Given the description of an element on the screen output the (x, y) to click on. 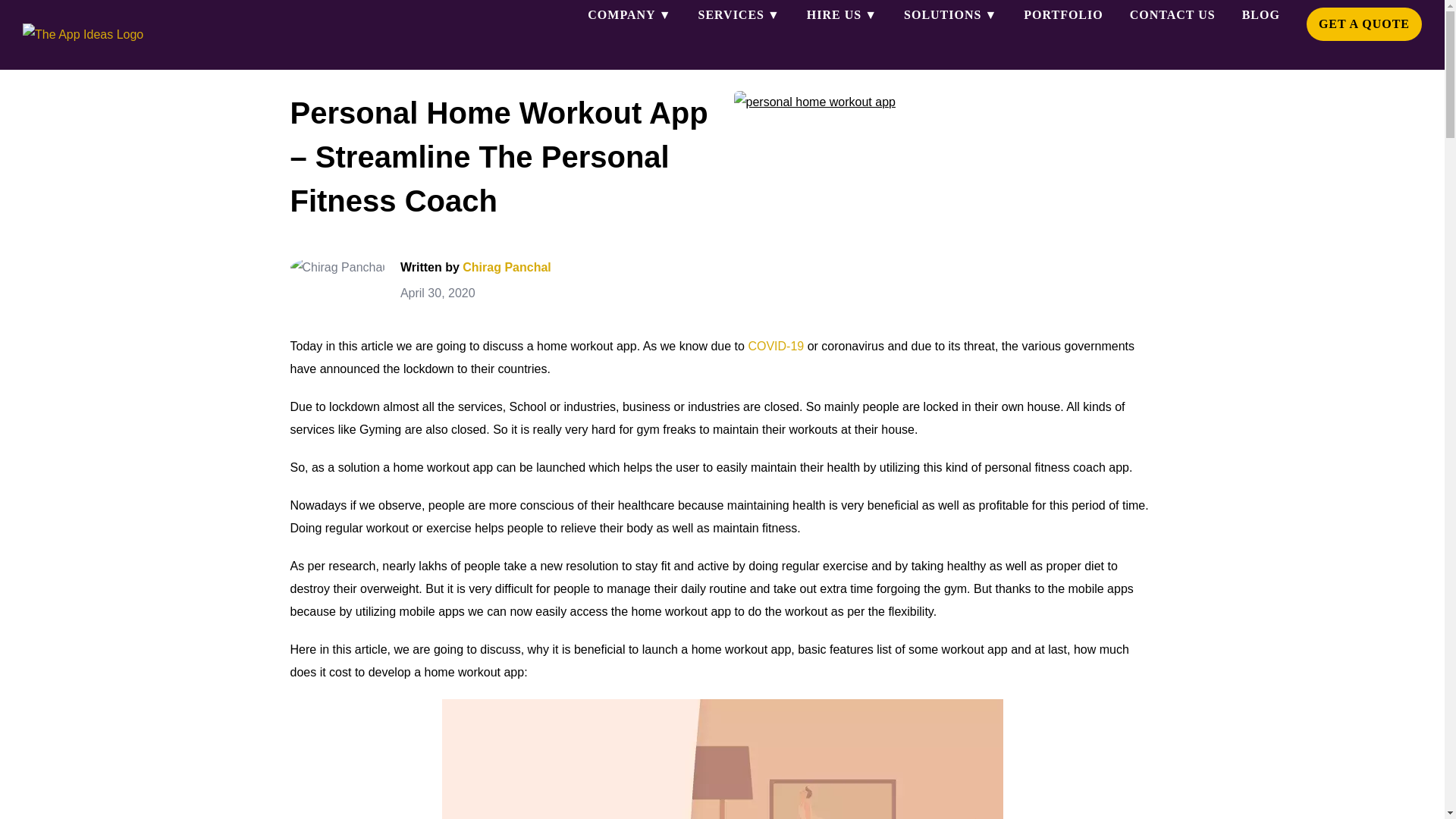
HIRE US (841, 15)
COMPANY (629, 15)
COMPANY (629, 15)
SERVICES (739, 15)
HIRE US (841, 15)
SERVICES (739, 15)
THE APP IDEAS (82, 34)
